Given the description of an element on the screen output the (x, y) to click on. 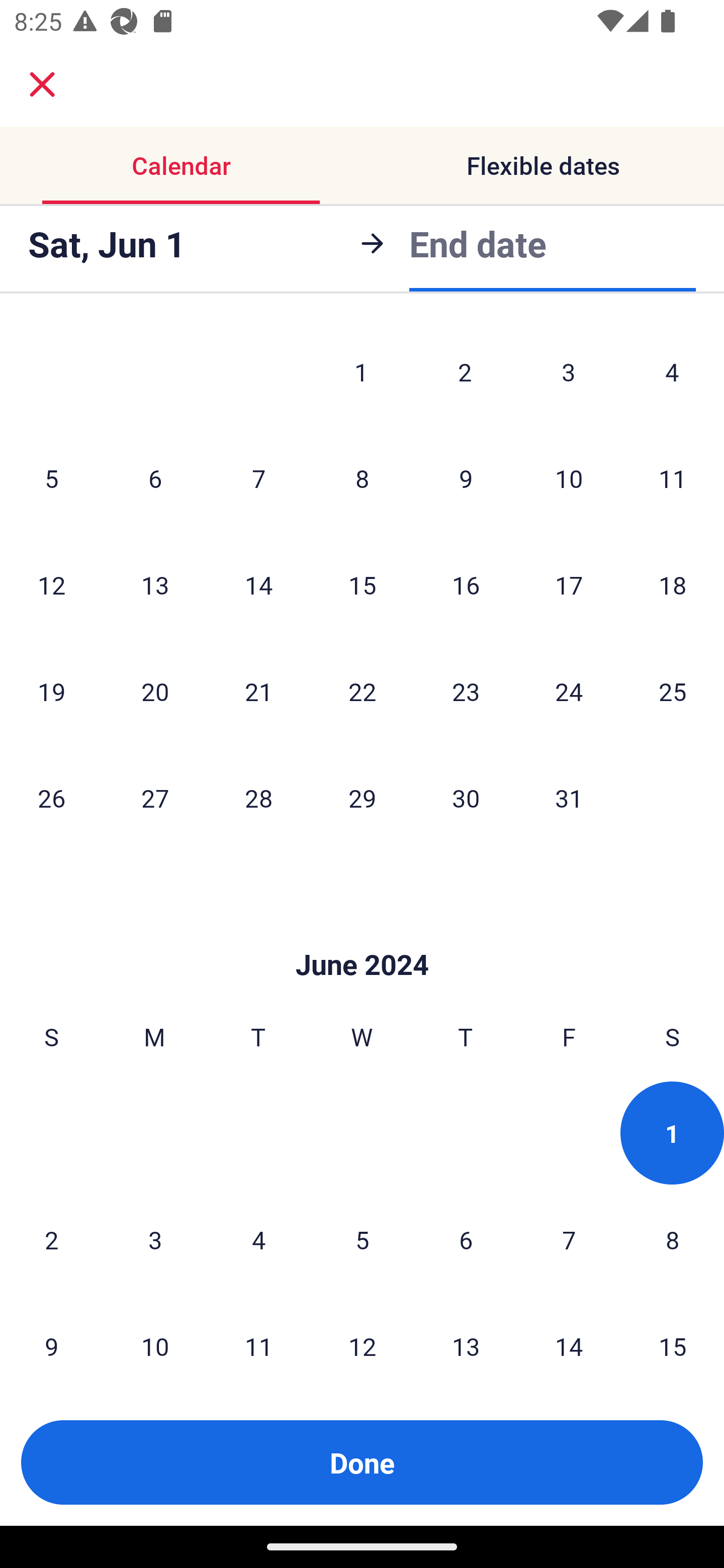
close. (42, 84)
Flexible dates (542, 164)
End date (477, 243)
1 Wednesday, May 1, 2024 (361, 372)
2 Thursday, May 2, 2024 (464, 372)
3 Friday, May 3, 2024 (568, 372)
4 Saturday, May 4, 2024 (672, 372)
5 Sunday, May 5, 2024 (51, 477)
6 Monday, May 6, 2024 (155, 477)
7 Tuesday, May 7, 2024 (258, 477)
8 Wednesday, May 8, 2024 (362, 477)
9 Thursday, May 9, 2024 (465, 477)
10 Friday, May 10, 2024 (569, 477)
11 Saturday, May 11, 2024 (672, 477)
12 Sunday, May 12, 2024 (51, 584)
13 Monday, May 13, 2024 (155, 584)
14 Tuesday, May 14, 2024 (258, 584)
15 Wednesday, May 15, 2024 (362, 584)
16 Thursday, May 16, 2024 (465, 584)
17 Friday, May 17, 2024 (569, 584)
18 Saturday, May 18, 2024 (672, 584)
19 Sunday, May 19, 2024 (51, 691)
20 Monday, May 20, 2024 (155, 691)
21 Tuesday, May 21, 2024 (258, 691)
22 Wednesday, May 22, 2024 (362, 691)
23 Thursday, May 23, 2024 (465, 691)
24 Friday, May 24, 2024 (569, 691)
25 Saturday, May 25, 2024 (672, 691)
26 Sunday, May 26, 2024 (51, 797)
27 Monday, May 27, 2024 (155, 797)
28 Tuesday, May 28, 2024 (258, 797)
29 Wednesday, May 29, 2024 (362, 797)
30 Thursday, May 30, 2024 (465, 797)
31 Friday, May 31, 2024 (569, 797)
Skip to Done (362, 934)
2 Sunday, June 2, 2024 (51, 1239)
3 Monday, June 3, 2024 (155, 1239)
4 Tuesday, June 4, 2024 (258, 1239)
5 Wednesday, June 5, 2024 (362, 1239)
6 Thursday, June 6, 2024 (465, 1239)
7 Friday, June 7, 2024 (569, 1239)
8 Saturday, June 8, 2024 (672, 1239)
9 Sunday, June 9, 2024 (51, 1336)
10 Monday, June 10, 2024 (155, 1336)
11 Tuesday, June 11, 2024 (258, 1336)
12 Wednesday, June 12, 2024 (362, 1336)
13 Thursday, June 13, 2024 (465, 1336)
14 Friday, June 14, 2024 (569, 1336)
15 Saturday, June 15, 2024 (672, 1336)
Done (361, 1462)
